Given the description of an element on the screen output the (x, y) to click on. 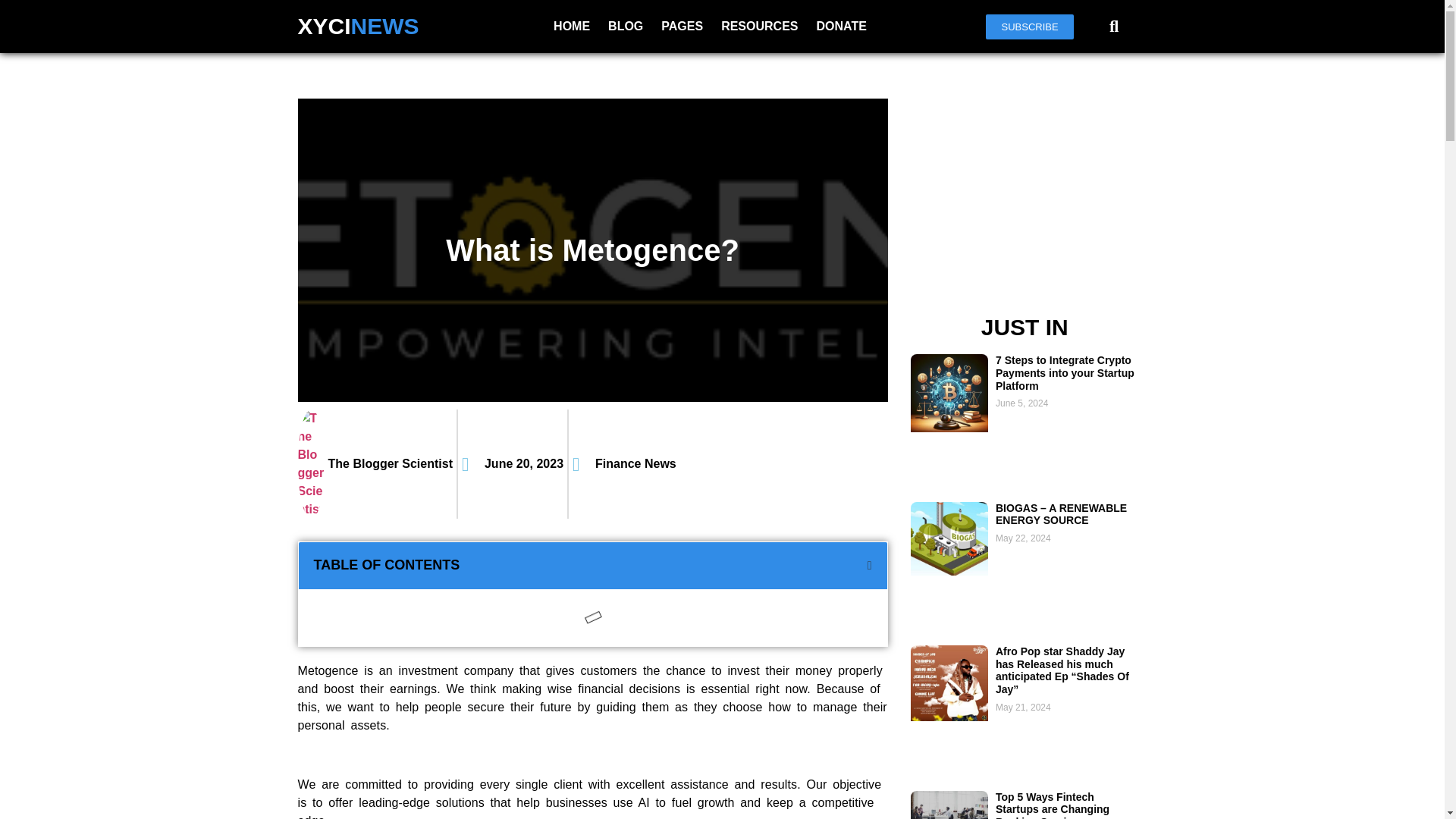
HOME (571, 26)
DONATE (840, 26)
XYCINEWS (358, 25)
PAGES (681, 26)
RESOURCES (758, 26)
BLOG (625, 26)
